Given the description of an element on the screen output the (x, y) to click on. 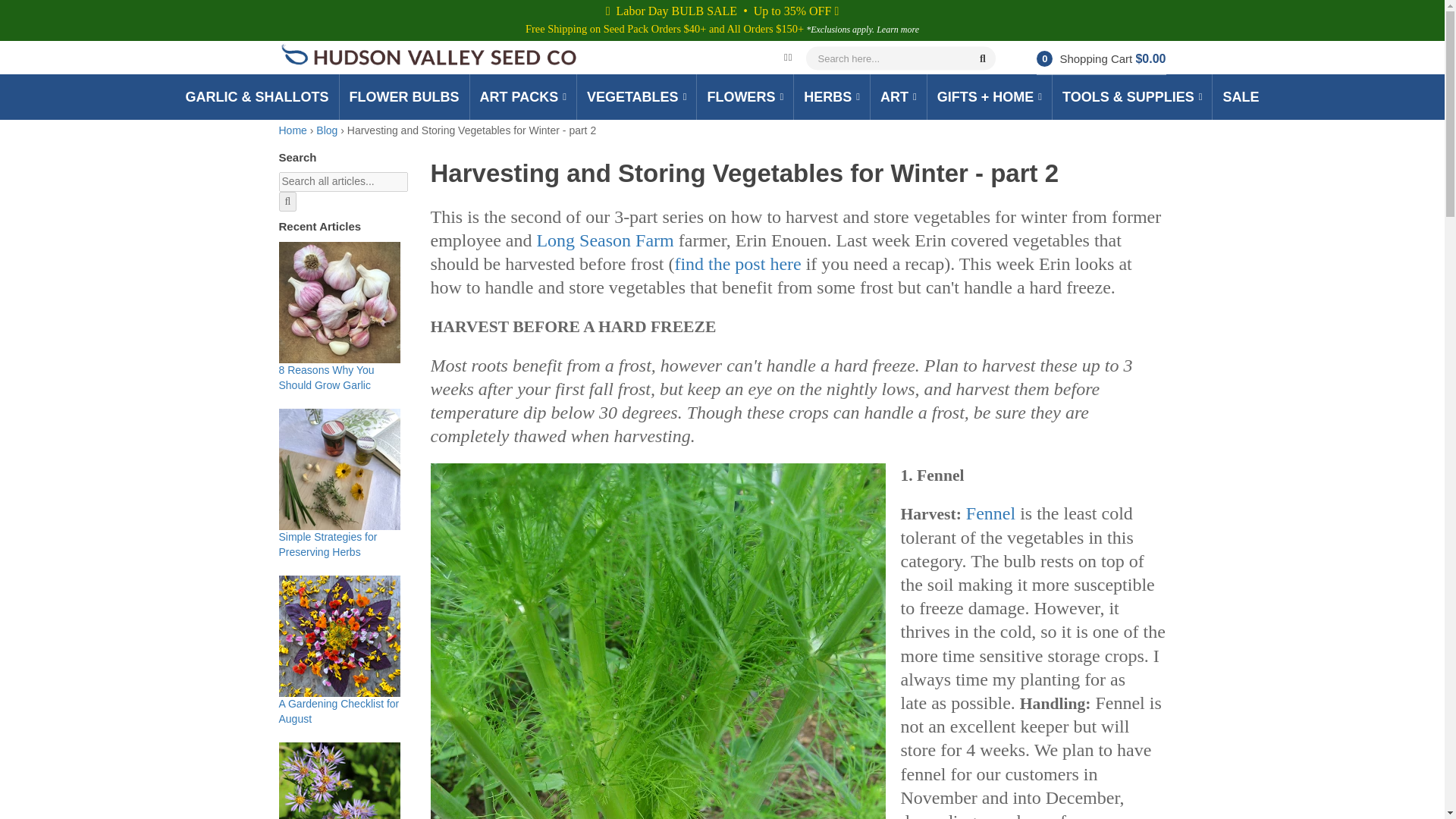
VEGETABLES (636, 97)
FLOWER BULBS (404, 97)
ART PACKS (522, 97)
Learn more (897, 29)
Back to the frontpage (293, 130)
